Given the description of an element on the screen output the (x, y) to click on. 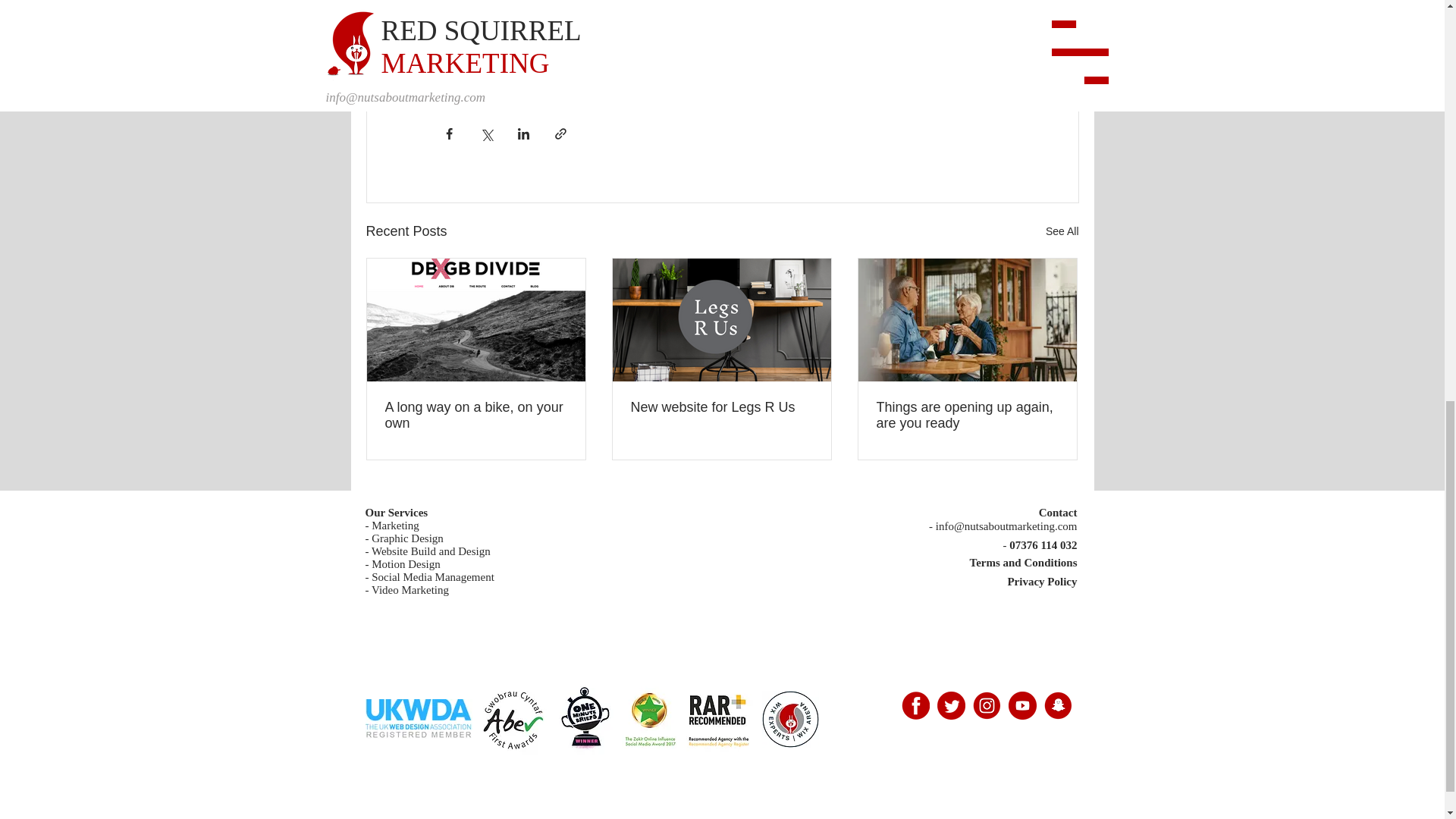
Terms and Conditions (1023, 562)
Privacy Policy (1042, 581)
Website Build and Design (430, 551)
A long way on a bike, on your own (476, 415)
Video Marketing (409, 589)
07376 114 032 (1043, 544)
Motion Design (405, 563)
Things are opening up again, are you ready (967, 415)
Marketing (395, 525)
Graphic Design (407, 538)
